Given the description of an element on the screen output the (x, y) to click on. 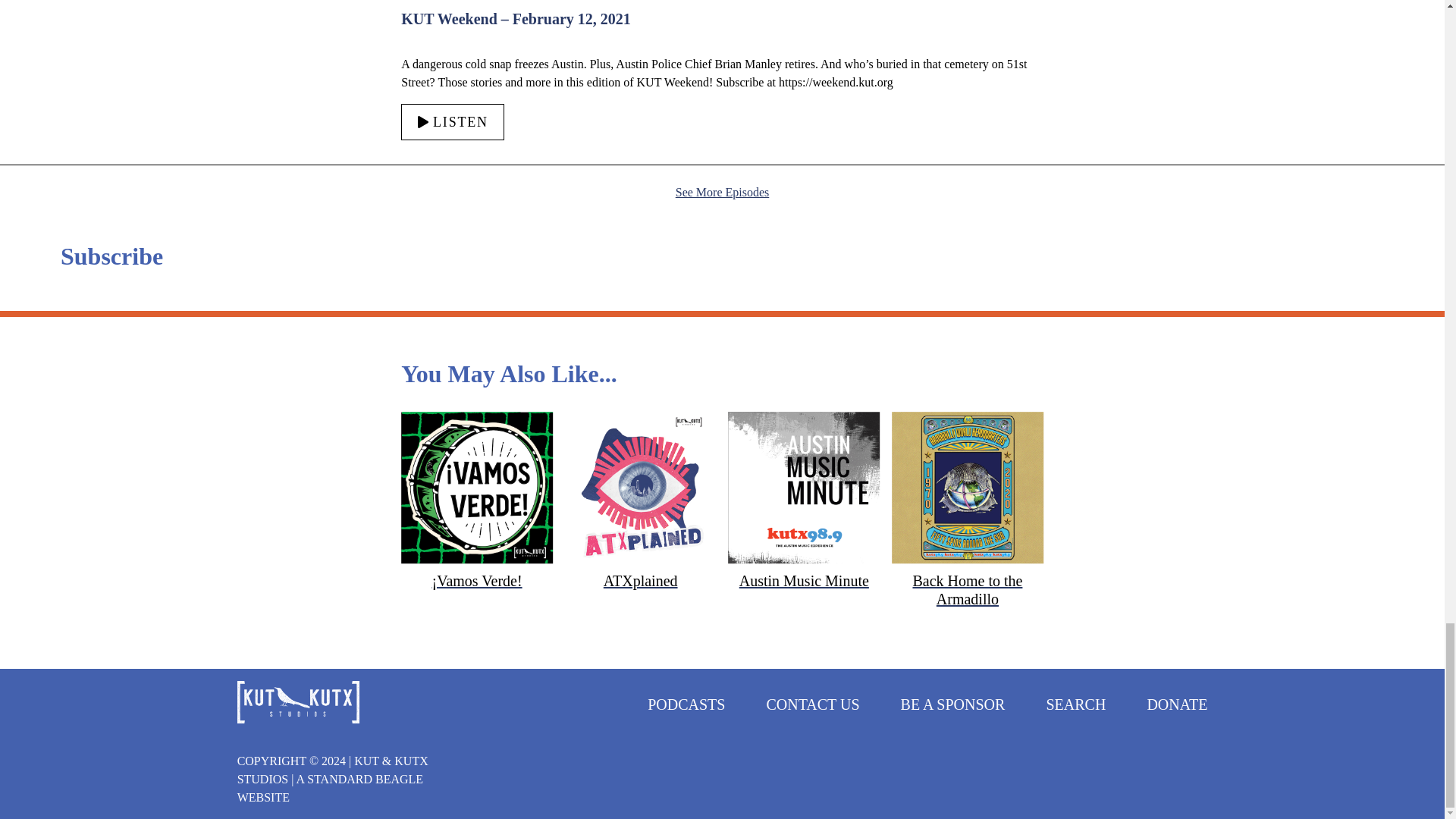
LISTEN (452, 122)
